Given the description of an element on the screen output the (x, y) to click on. 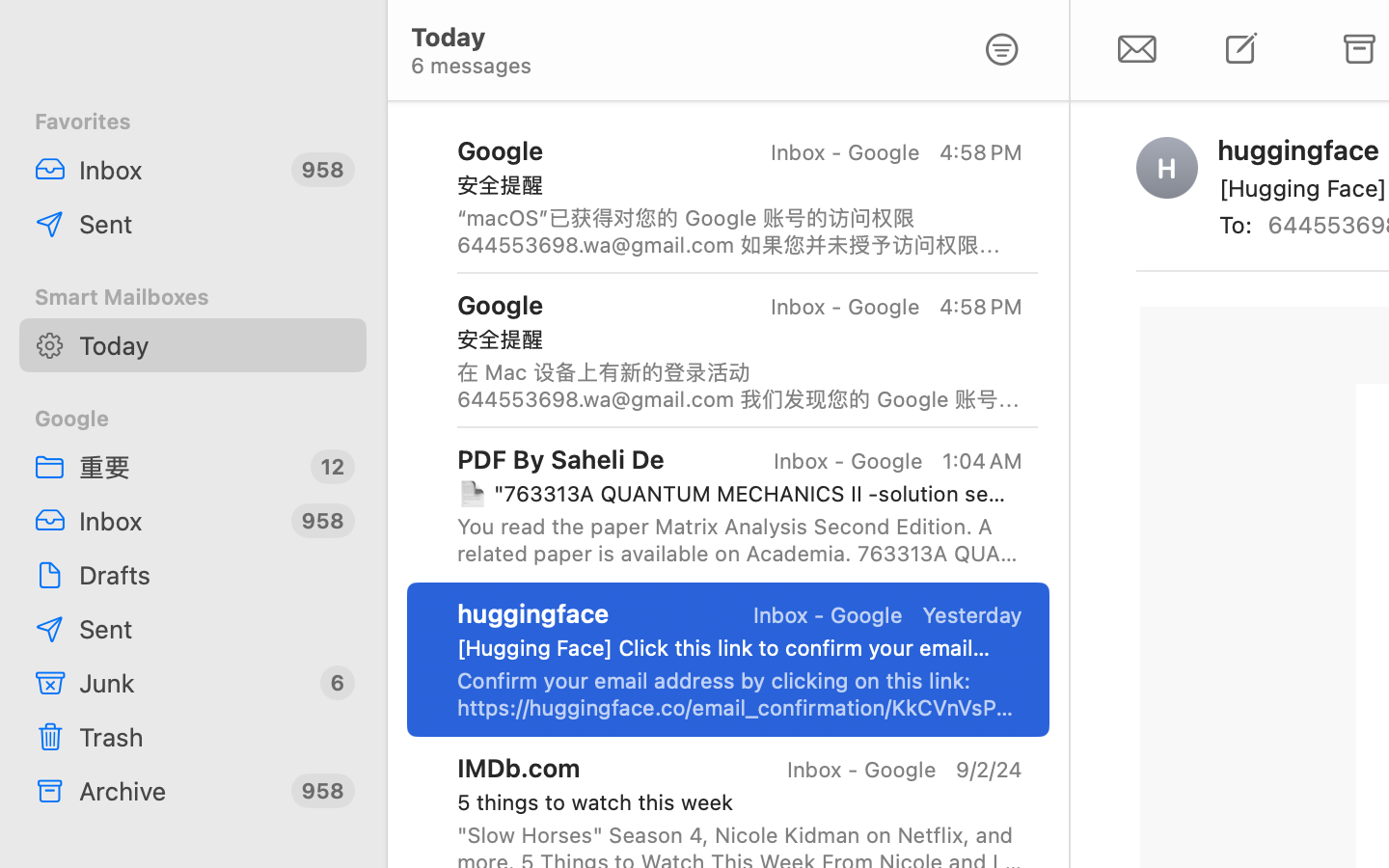
huggingface Element type: AXStaticText (533, 612)
Favorites Element type: AXStaticText (192, 121)
安全提醒 Element type: AXStaticText (731, 184)
You read the paper Matrix Analysis Second Edition. A related paper is available on Academia. 763313A QUANTUM MECHANICS II -solution set 2 -spring 2014 Saheli De 237 Views View PDF ▸ Download PDF ⬇ Your recent reading history: Matrix Analysis Second Edition - Benedict Cui Want fewer recommendations like this one? 580 California St., Suite 400, San Francisco, CA, 94104 Unsubscribe Privacy Policy Terms of Service © 2024 Academia Element type: AXStaticText (739, 540)
Trash Element type: AXStaticText (214, 736)
